Given the description of an element on the screen output the (x, y) to click on. 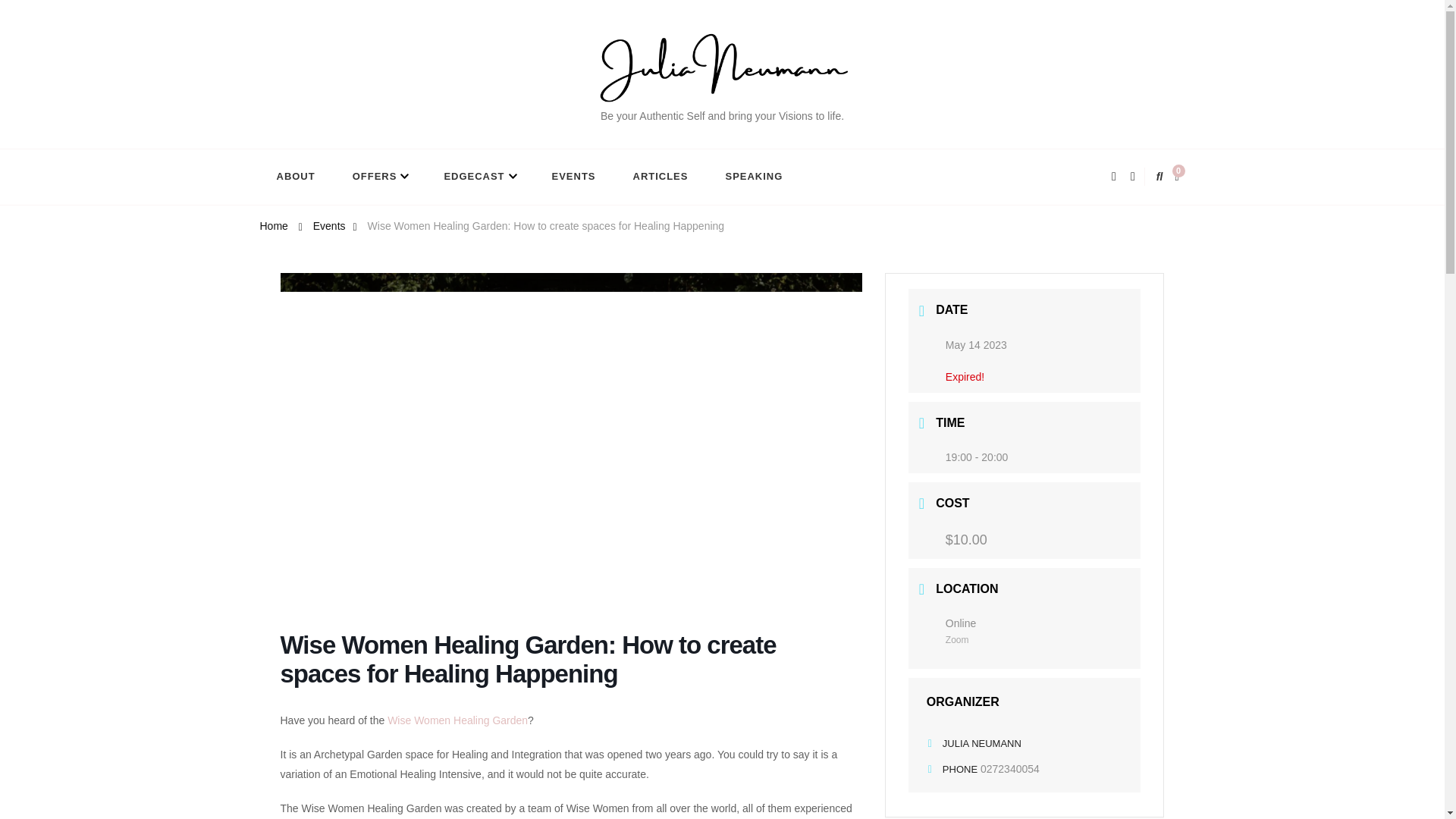
Events (329, 228)
0272340054 (1009, 768)
SPEAKING (753, 177)
Wise Women Healing Garden (457, 720)
ARTICLES (659, 177)
Home (272, 228)
OFFERS (379, 177)
EVENTS (573, 177)
EDGECAST (478, 177)
